Given the description of an element on the screen output the (x, y) to click on. 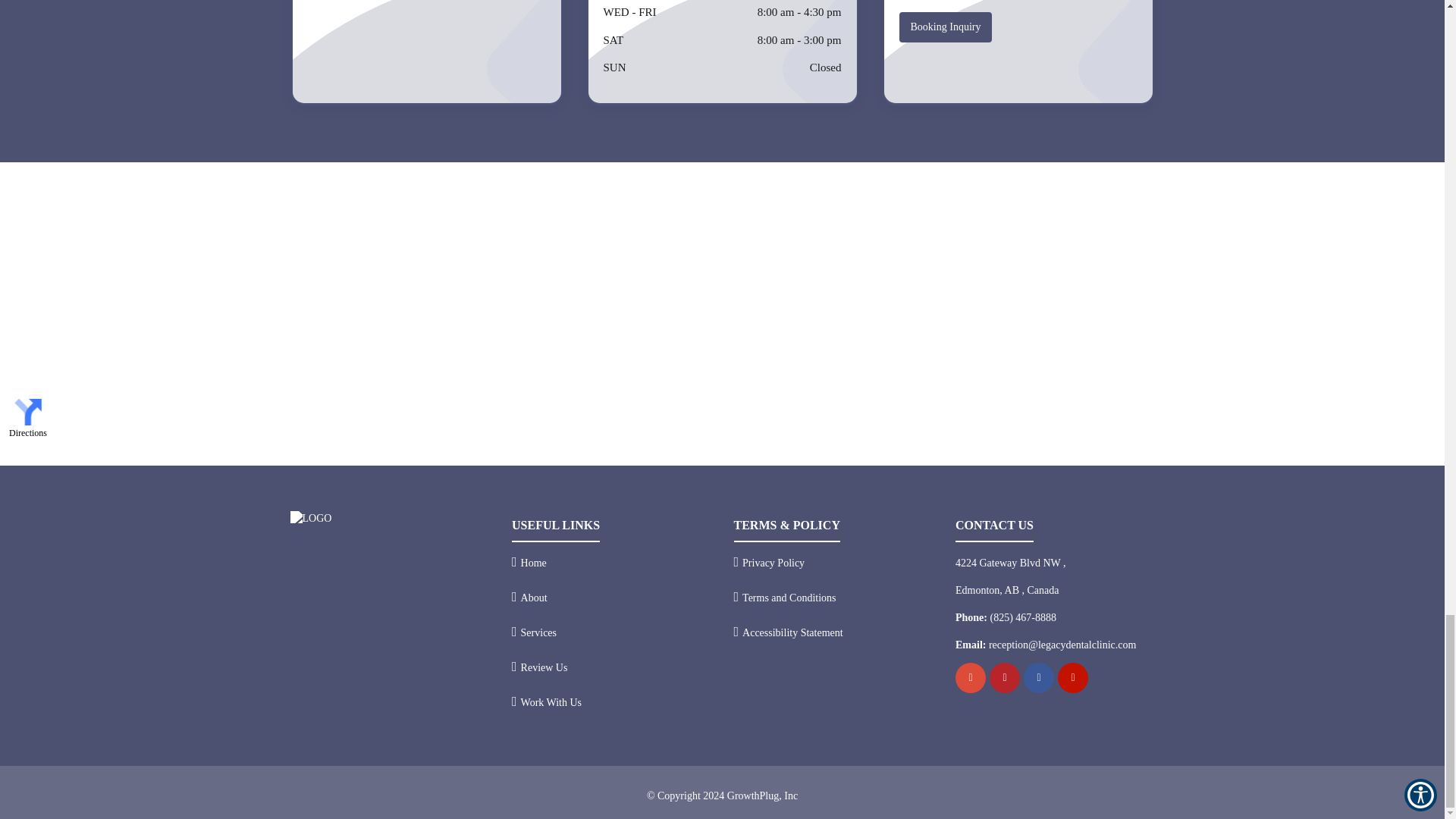
LOGO (310, 518)
